Given the description of an element on the screen output the (x, y) to click on. 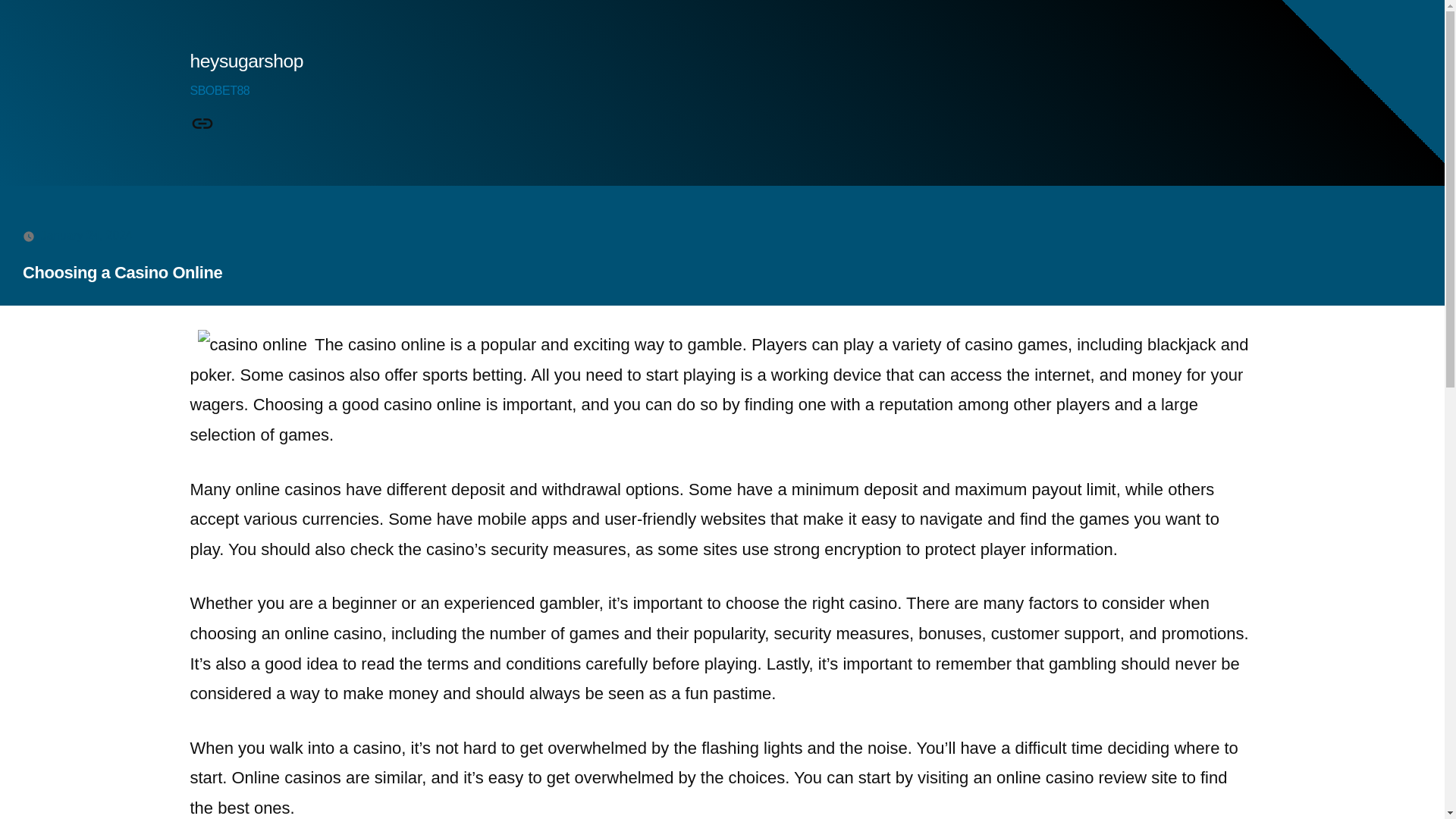
SBOBET88 (218, 90)
heysugarshop (245, 60)
January 24, 2024 (86, 235)
SBOBET88 (201, 123)
